Given the description of an element on the screen output the (x, y) to click on. 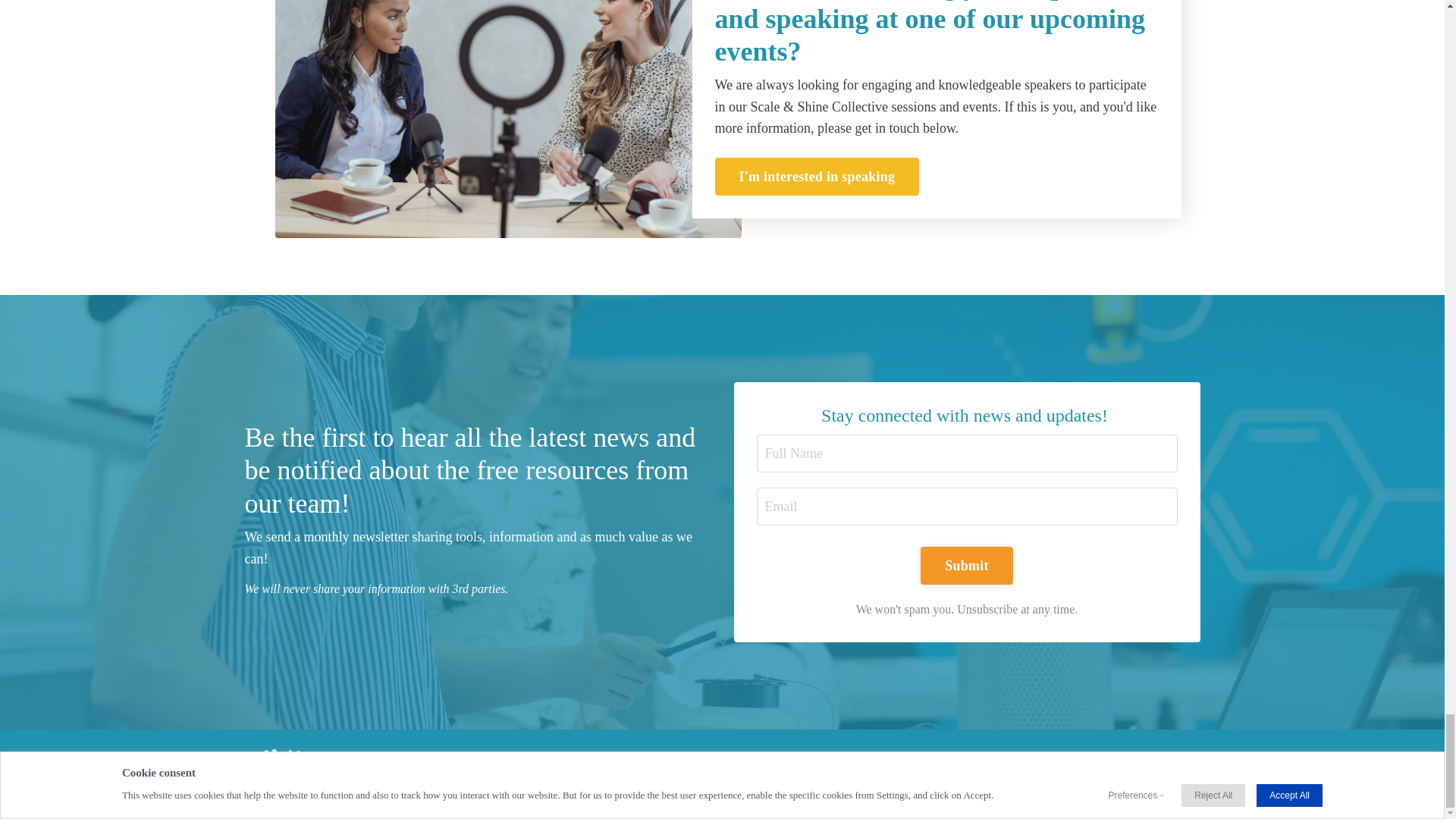
Cookie Policy (951, 773)
I'm interested in speaking (816, 176)
Privacy Statement (843, 773)
Submit (966, 565)
